Given the description of an element on the screen output the (x, y) to click on. 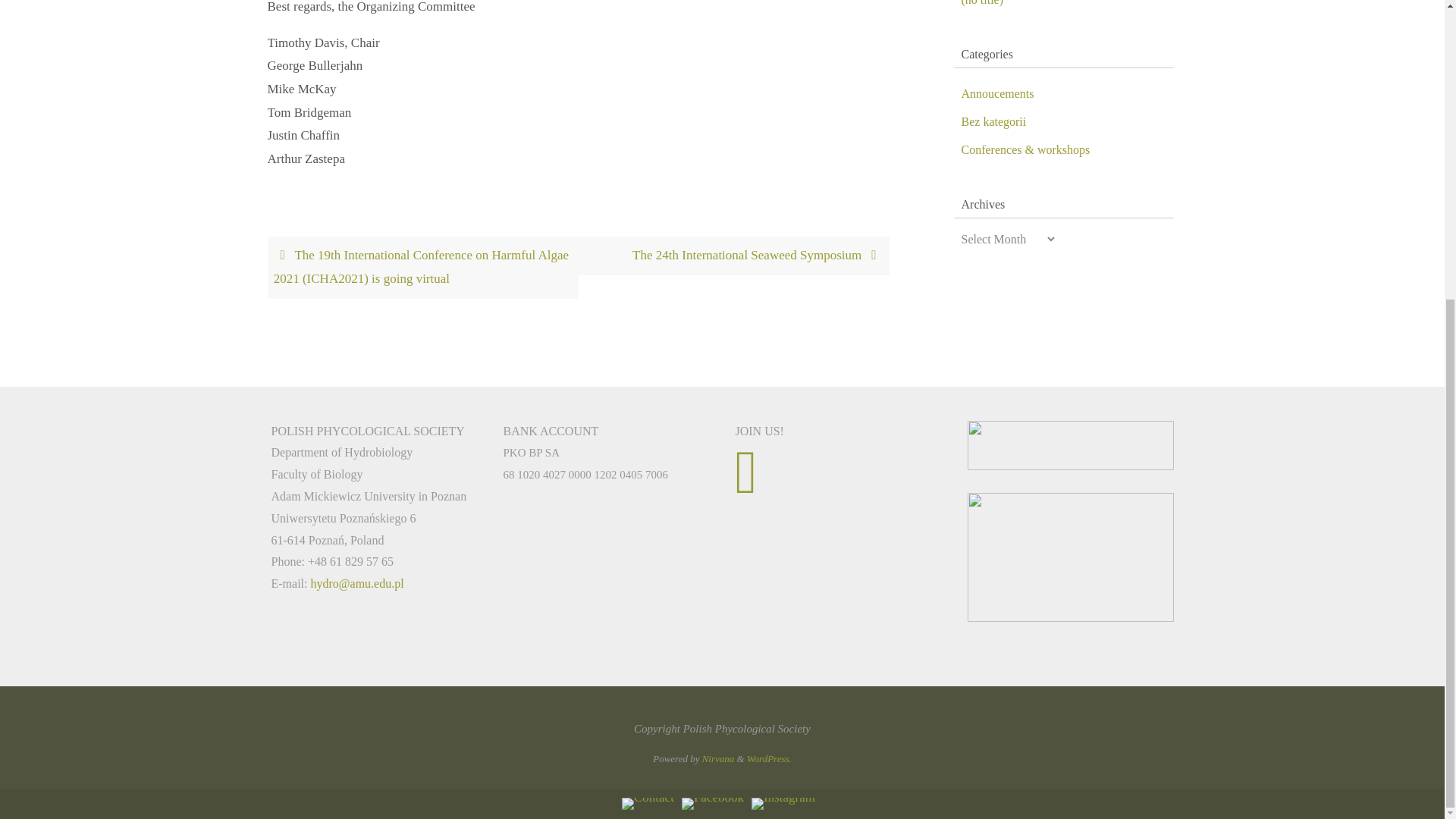
Annoucements (996, 93)
Nirvana Theme by Cryout Creations (718, 758)
Semantic Personal Publishing Platform (769, 758)
The 24th International Seaweed Symposium (733, 255)
Bez kategorii (993, 121)
e-mail (647, 803)
